Given the description of an element on the screen output the (x, y) to click on. 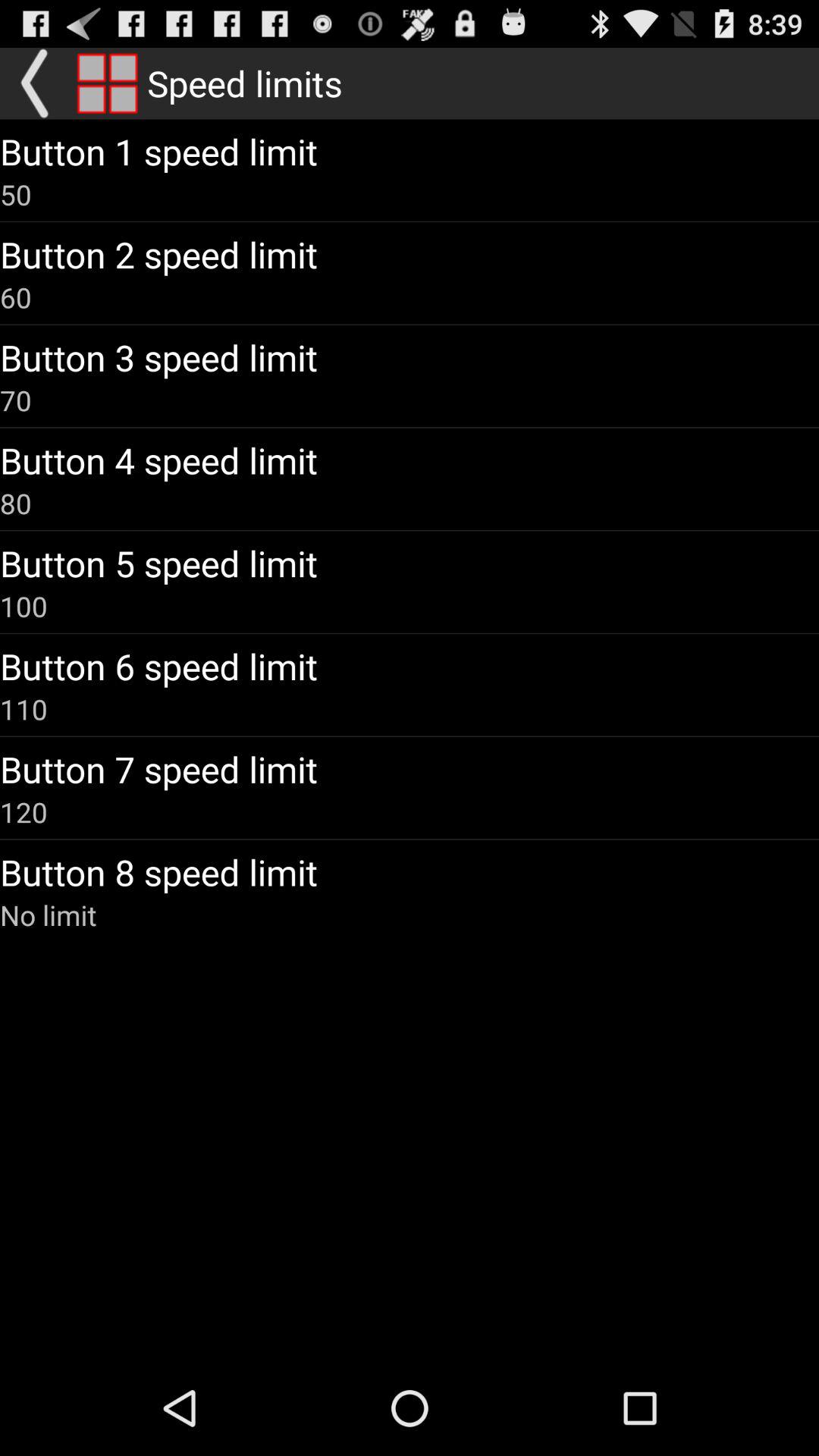
swipe to the 100 (23, 606)
